Given the description of an element on the screen output the (x, y) to click on. 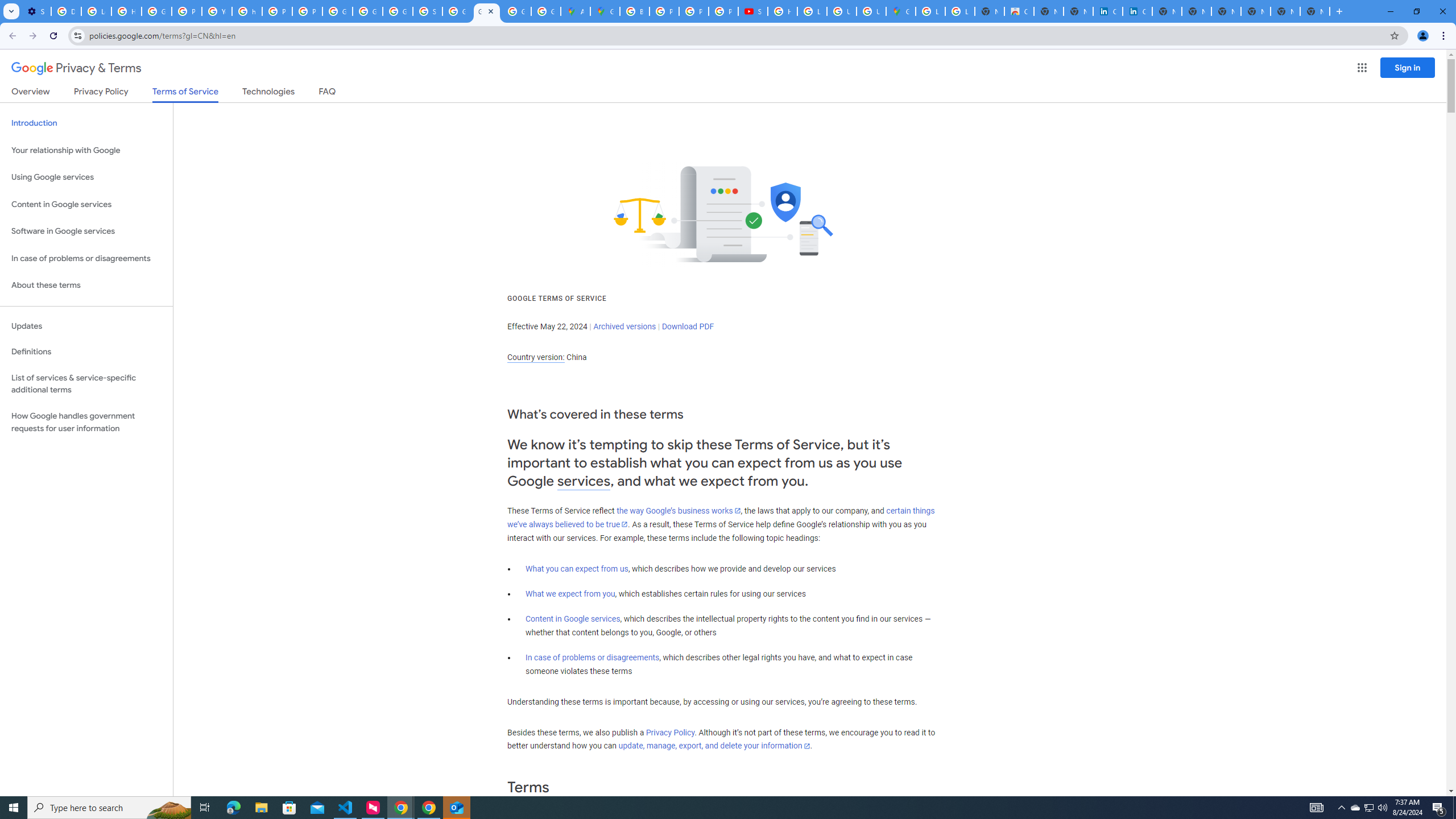
Chrome Web Store (1018, 11)
YouTube (216, 11)
update, manage, export, and delete your information (714, 746)
Software in Google services (86, 230)
Overview (30, 93)
